Given the description of an element on the screen output the (x, y) to click on. 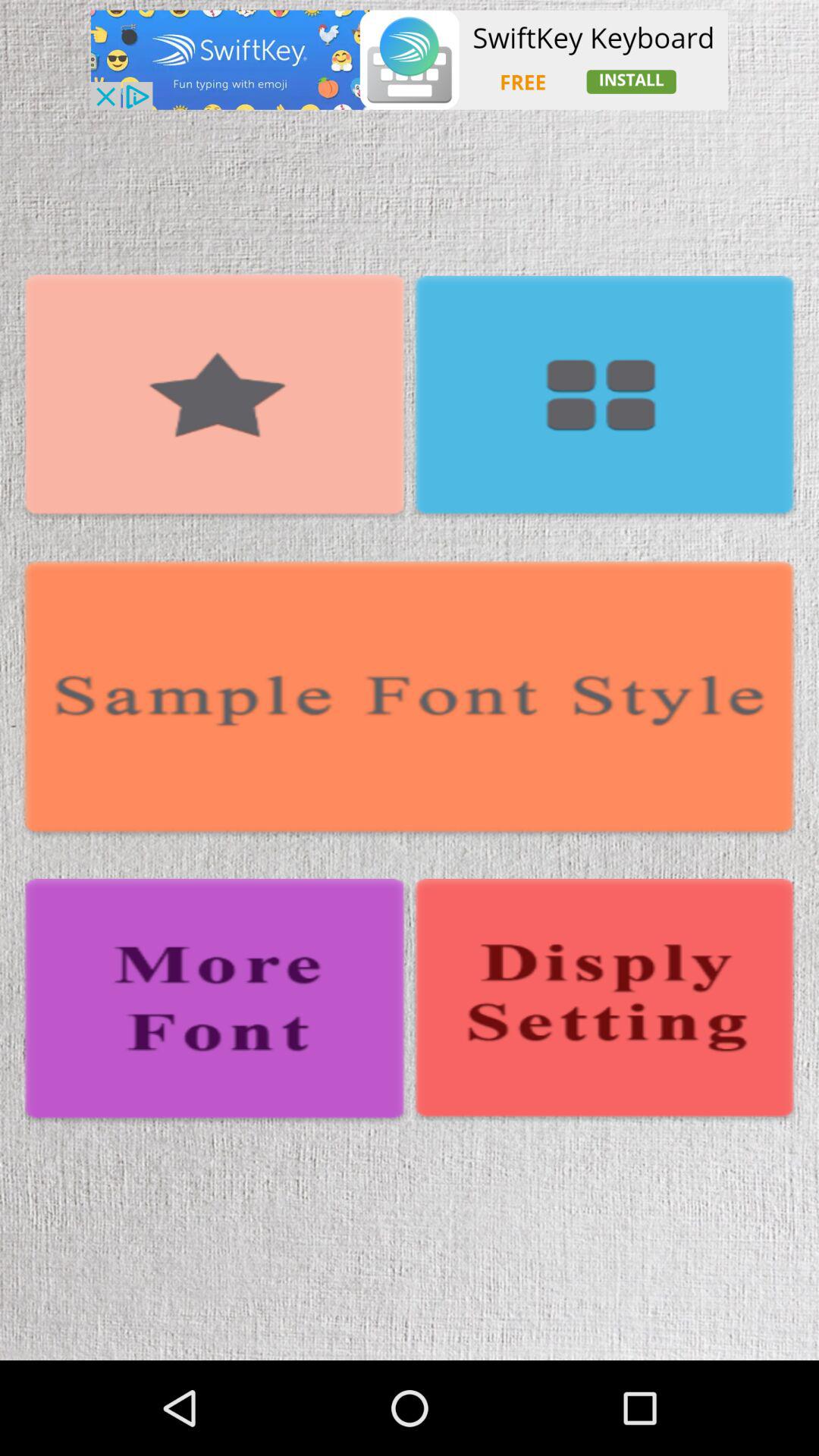
go to alternate page (604, 1000)
